Given the description of an element on the screen output the (x, y) to click on. 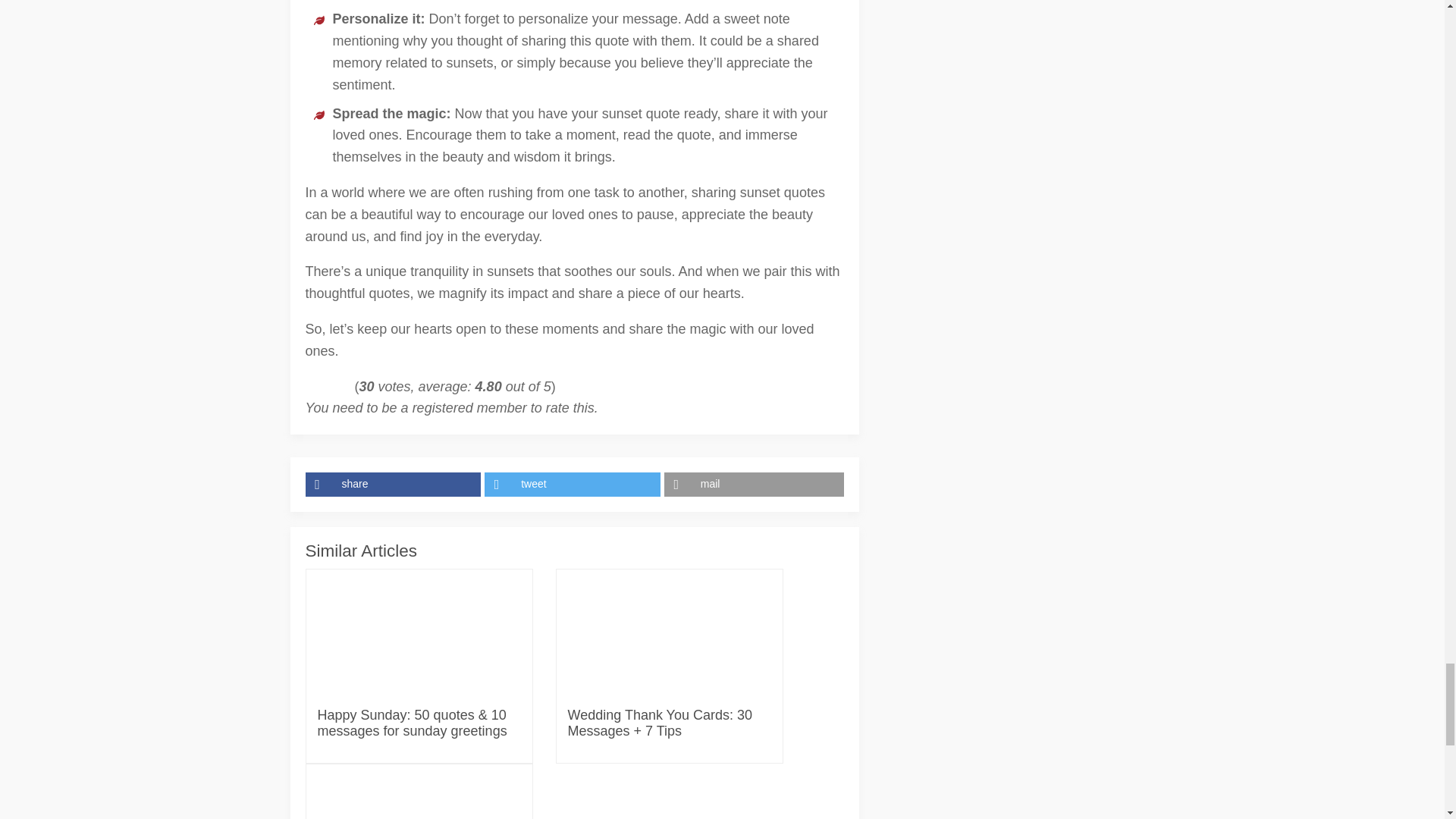
share (394, 484)
30 votes, average: 4.80 out of 5 (309, 387)
30 votes, average: 4.80 out of 5 (345, 387)
tweet (573, 484)
30 votes, average: 4.80 out of 5 (327, 387)
30 votes, average: 4.80 out of 5 (318, 387)
mail (753, 484)
30 votes, average: 4.80 out of 5 (335, 387)
